Given the description of an element on the screen output the (x, y) to click on. 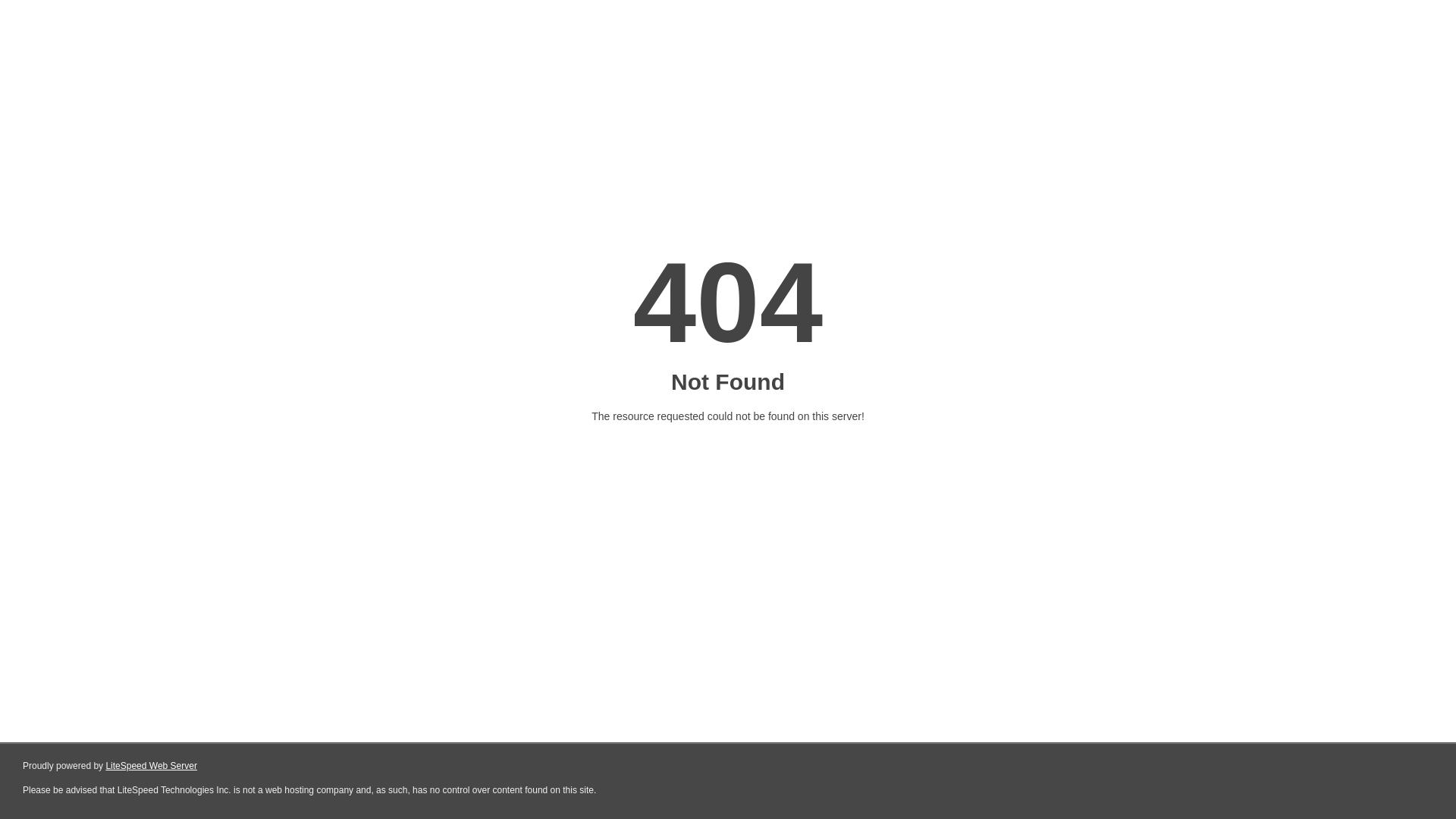
LiteSpeed Web Server (150, 765)
